Given the description of an element on the screen output the (x, y) to click on. 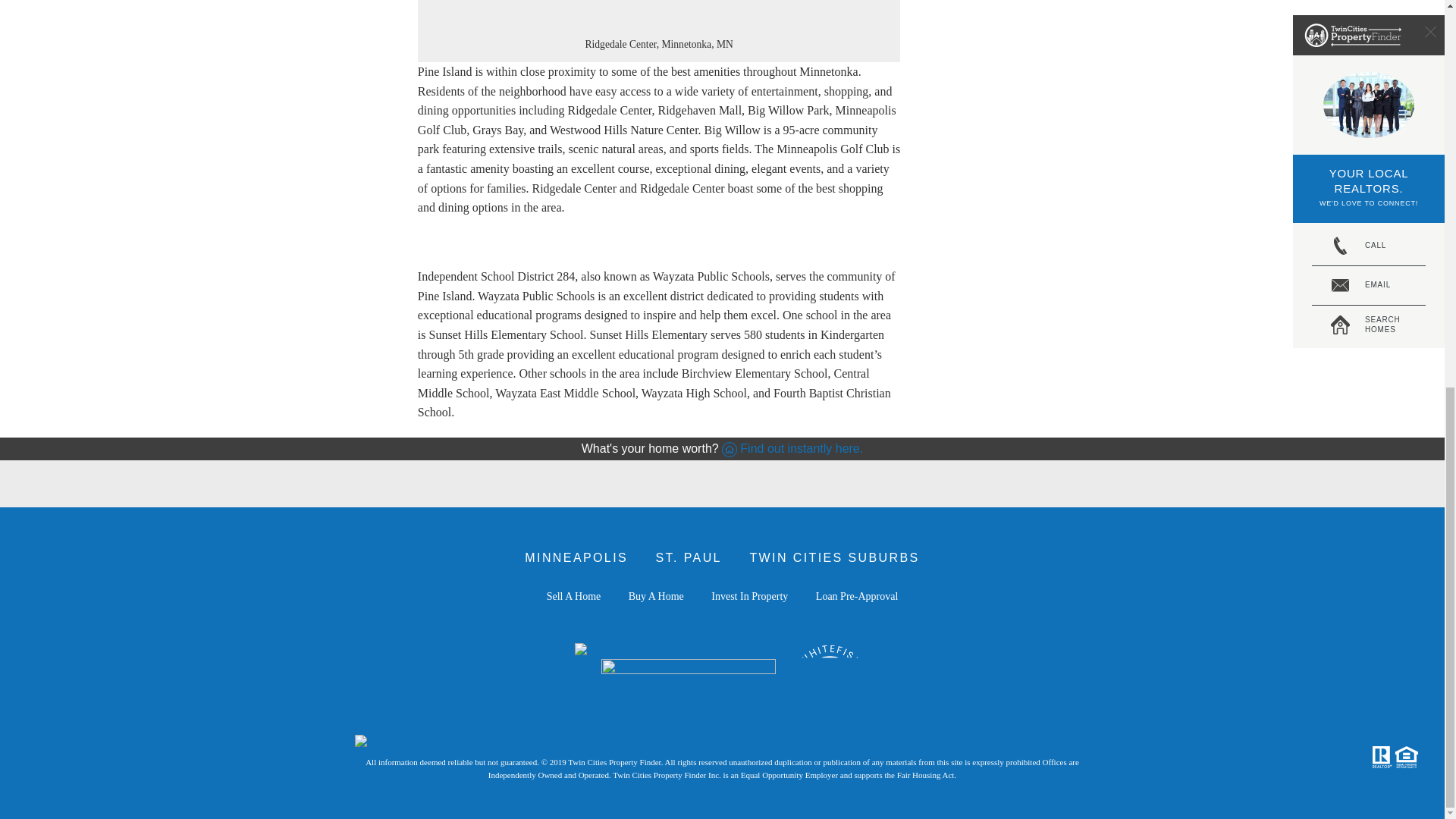
Find out instantly here. (801, 448)
SiteLock (722, 743)
